Given the description of an element on the screen output the (x, y) to click on. 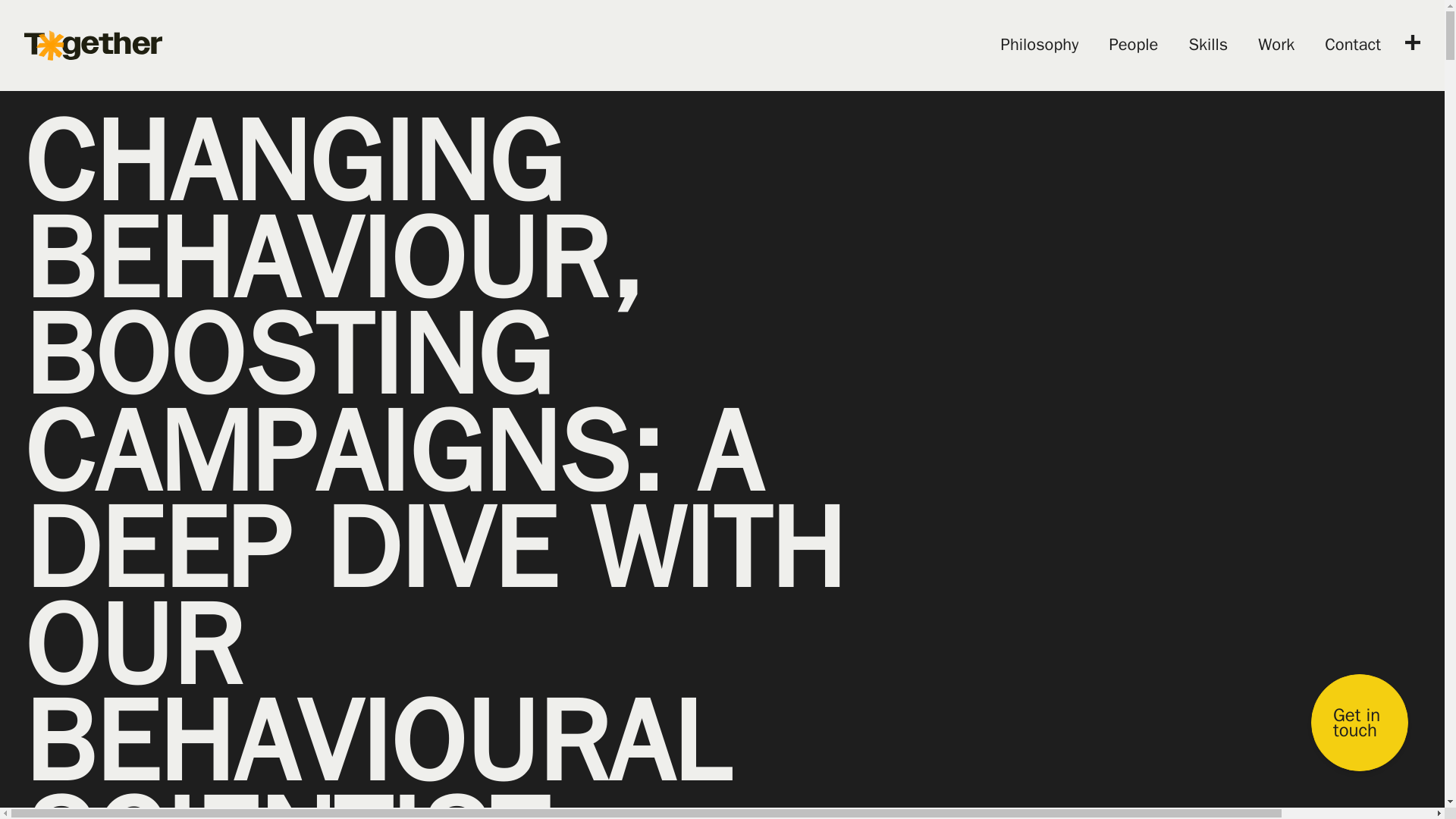
Work (1275, 45)
People (1132, 45)
Philosophy (1039, 45)
Skills (1207, 45)
Contact (1352, 45)
Together Agency (92, 45)
Open menu (1412, 42)
Get in touch (1359, 722)
